Given the description of an element on the screen output the (x, y) to click on. 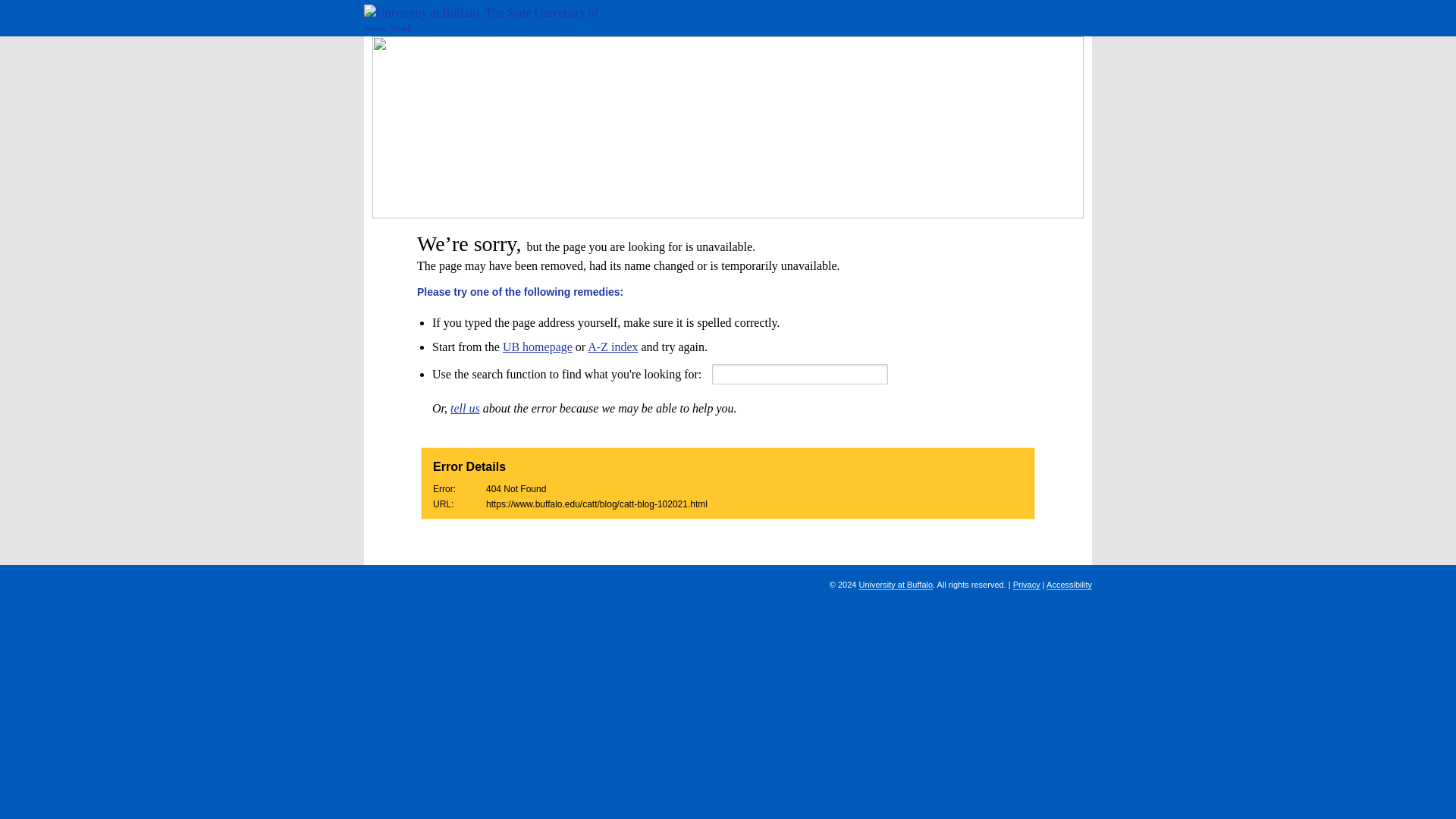
tell us (464, 408)
Privacy (1027, 584)
UB homepage (537, 346)
Accessibility (1069, 584)
A-Z index (612, 346)
University at Buffalo (896, 584)
